Given the description of an element on the screen output the (x, y) to click on. 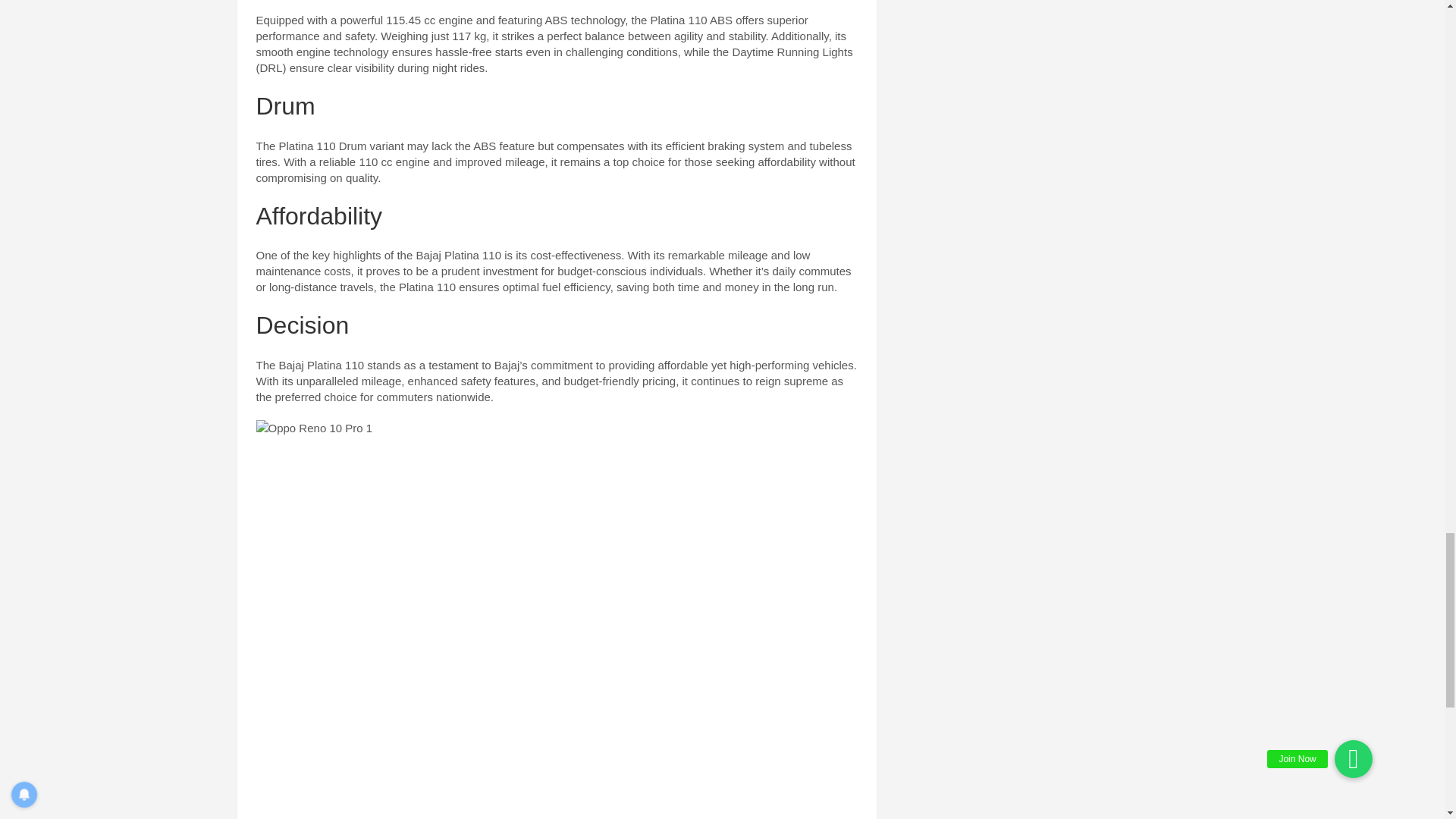
Advertisement (556, 748)
